Given the description of an element on the screen output the (x, y) to click on. 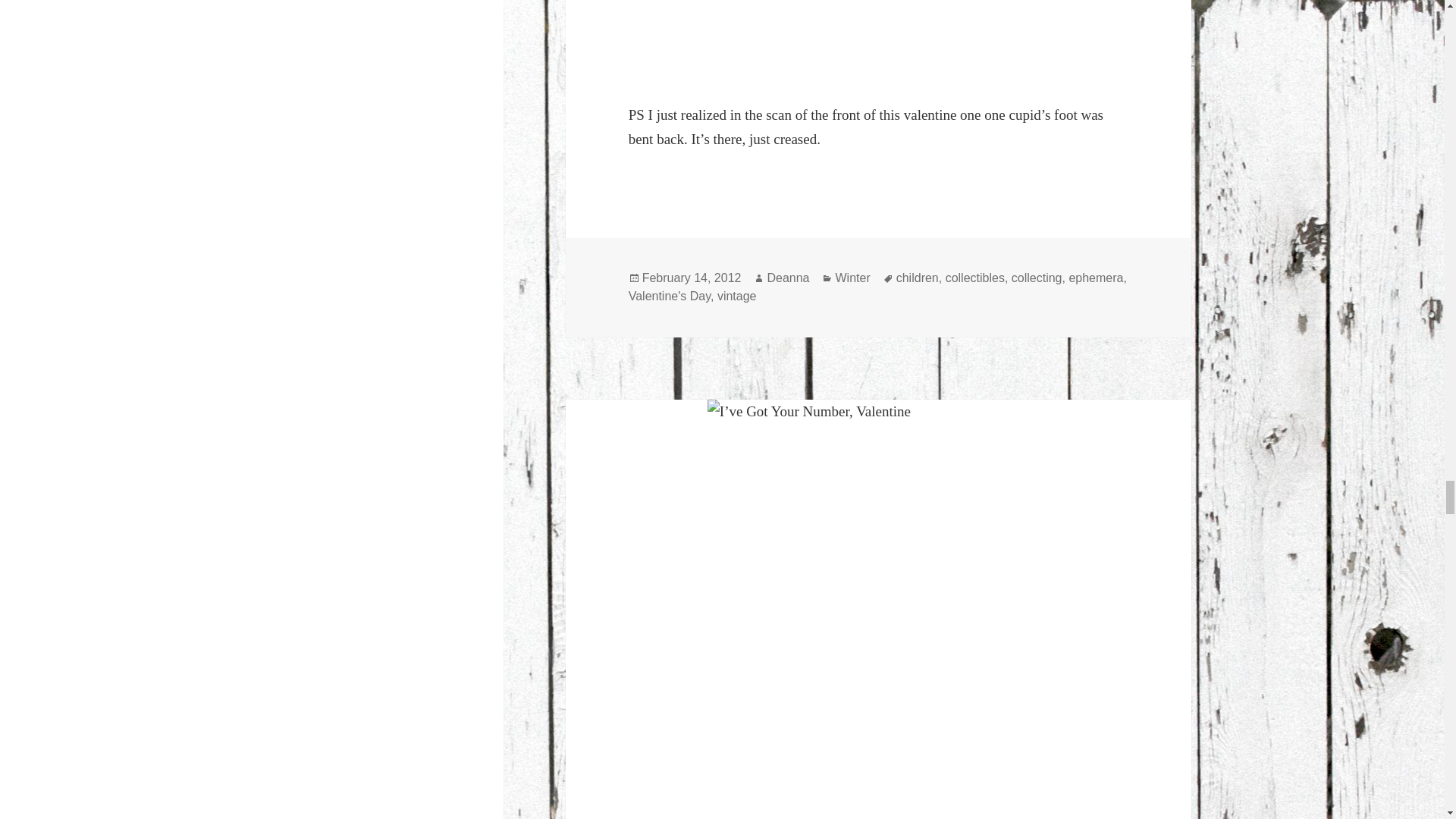
back of vintage harp angels valentine (878, 39)
